Given the description of an element on the screen output the (x, y) to click on. 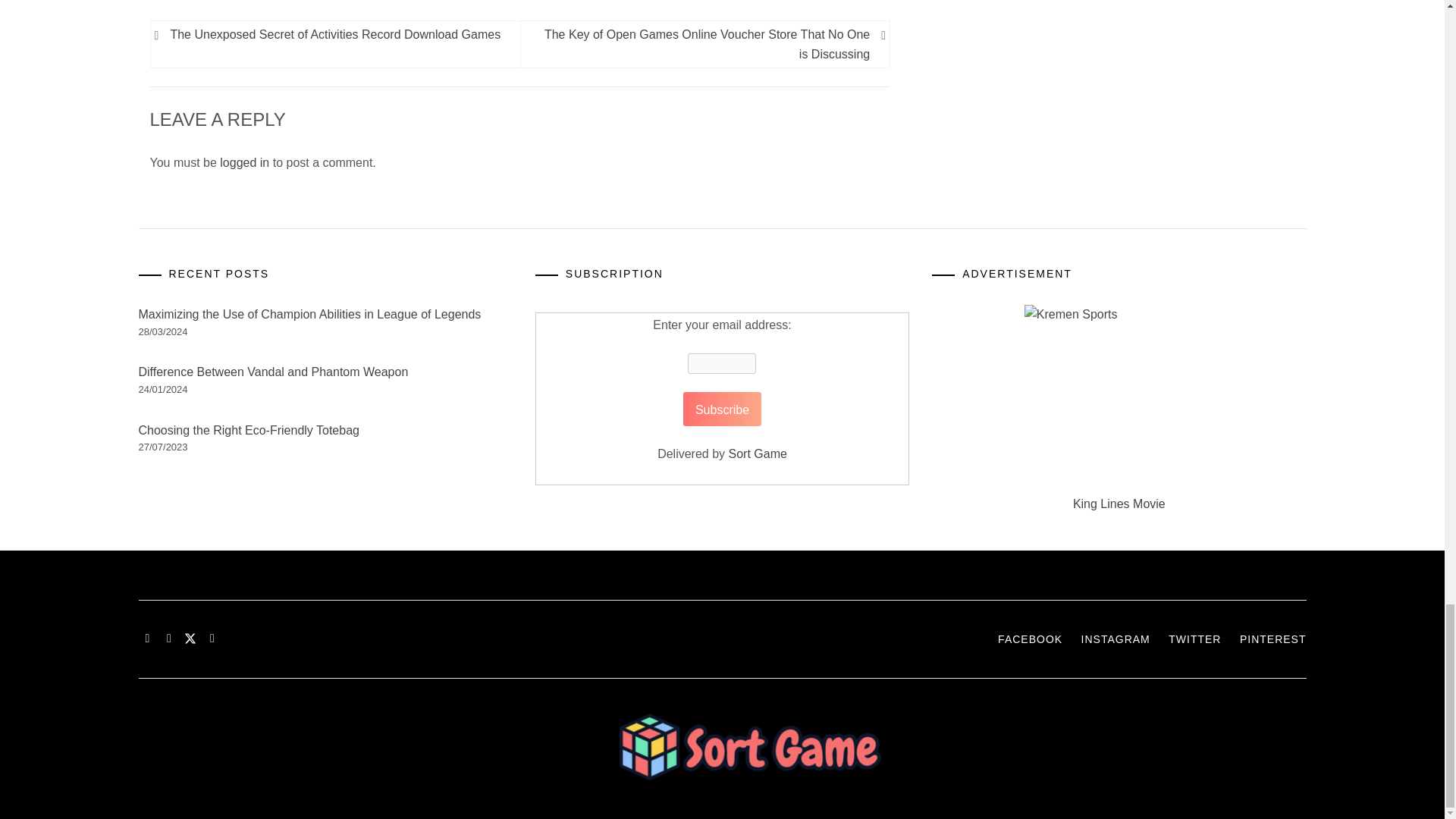
Kremen Sports (1119, 399)
logged in (244, 162)
Subscribe (721, 408)
The Unexposed Secret of Activities Record Download Games (336, 35)
